Given the description of an element on the screen output the (x, y) to click on. 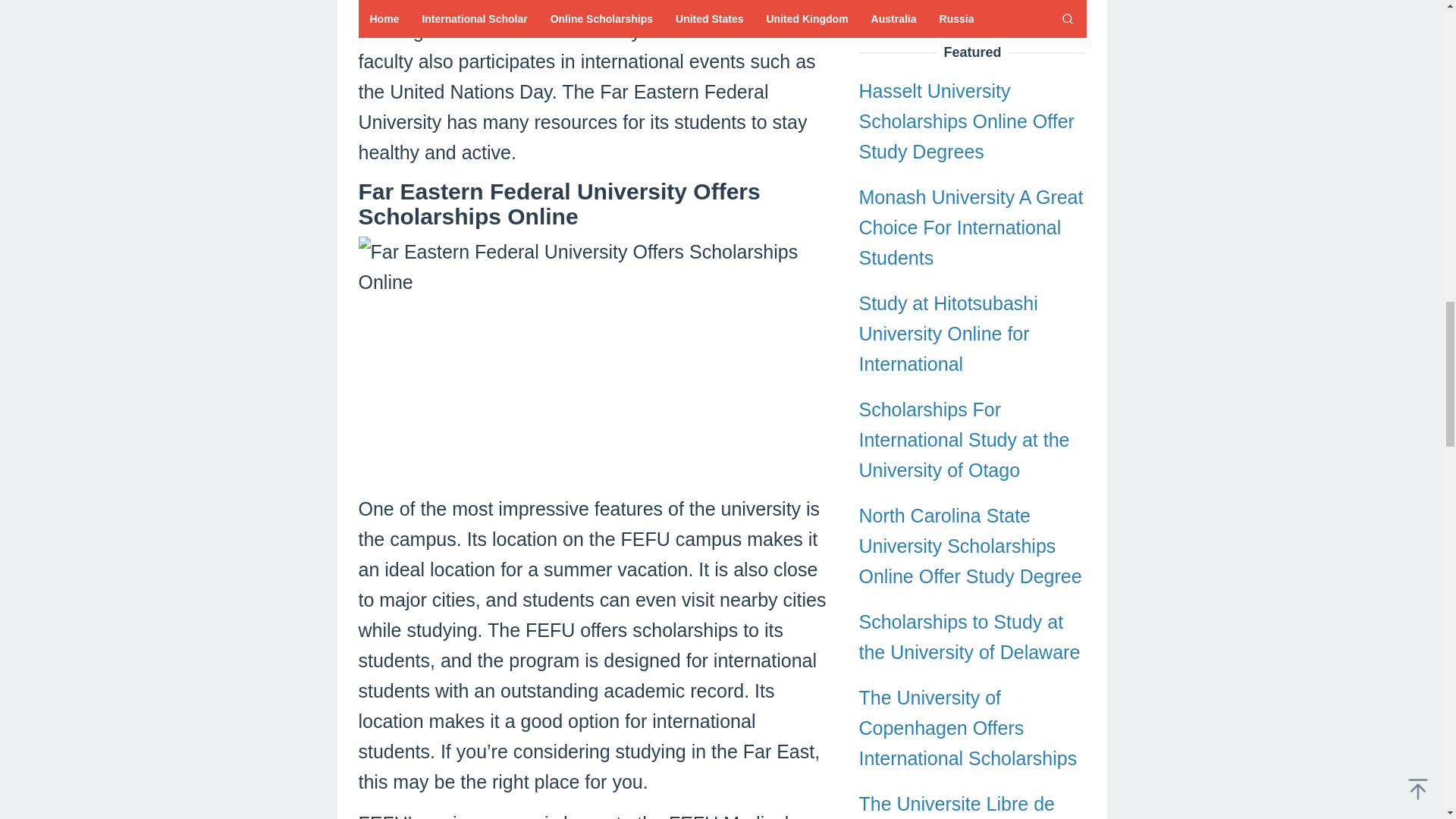
Terms and Conditions (950, 509)
Privacy Policy (917, 547)
Contact Us (905, 472)
Disclaimer (903, 586)
